Given the description of an element on the screen output the (x, y) to click on. 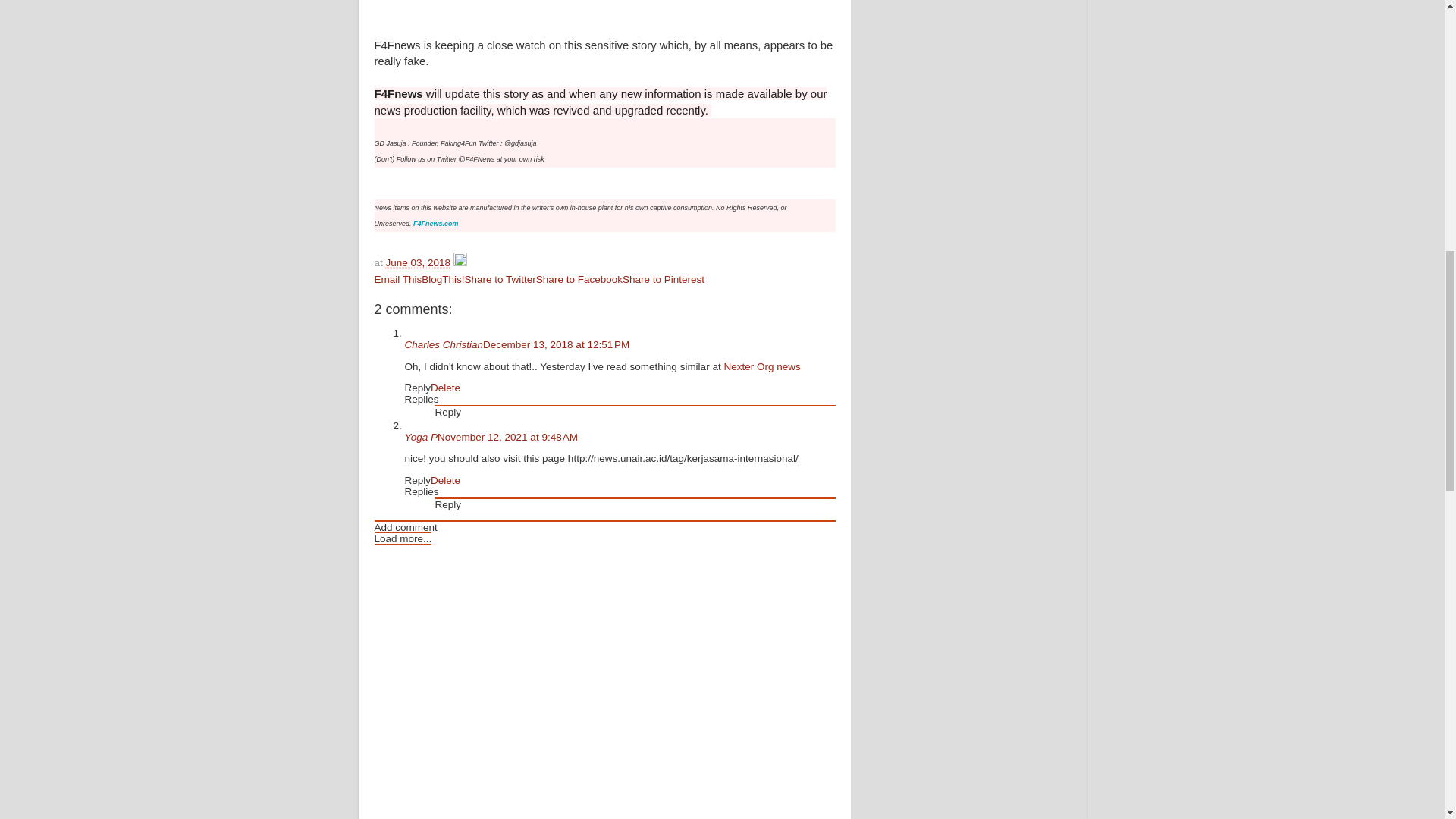
permanent link (418, 262)
Replies (421, 398)
Share to Twitter (499, 279)
Delete (445, 387)
Share to Pinterest (663, 279)
Reply (448, 411)
Delete (445, 480)
Load more... (403, 538)
Share to Pinterest (663, 279)
Add comment (406, 527)
Share to Twitter (499, 279)
Reply (448, 504)
BlogThis! (443, 279)
Email This (398, 279)
